Given the description of an element on the screen output the (x, y) to click on. 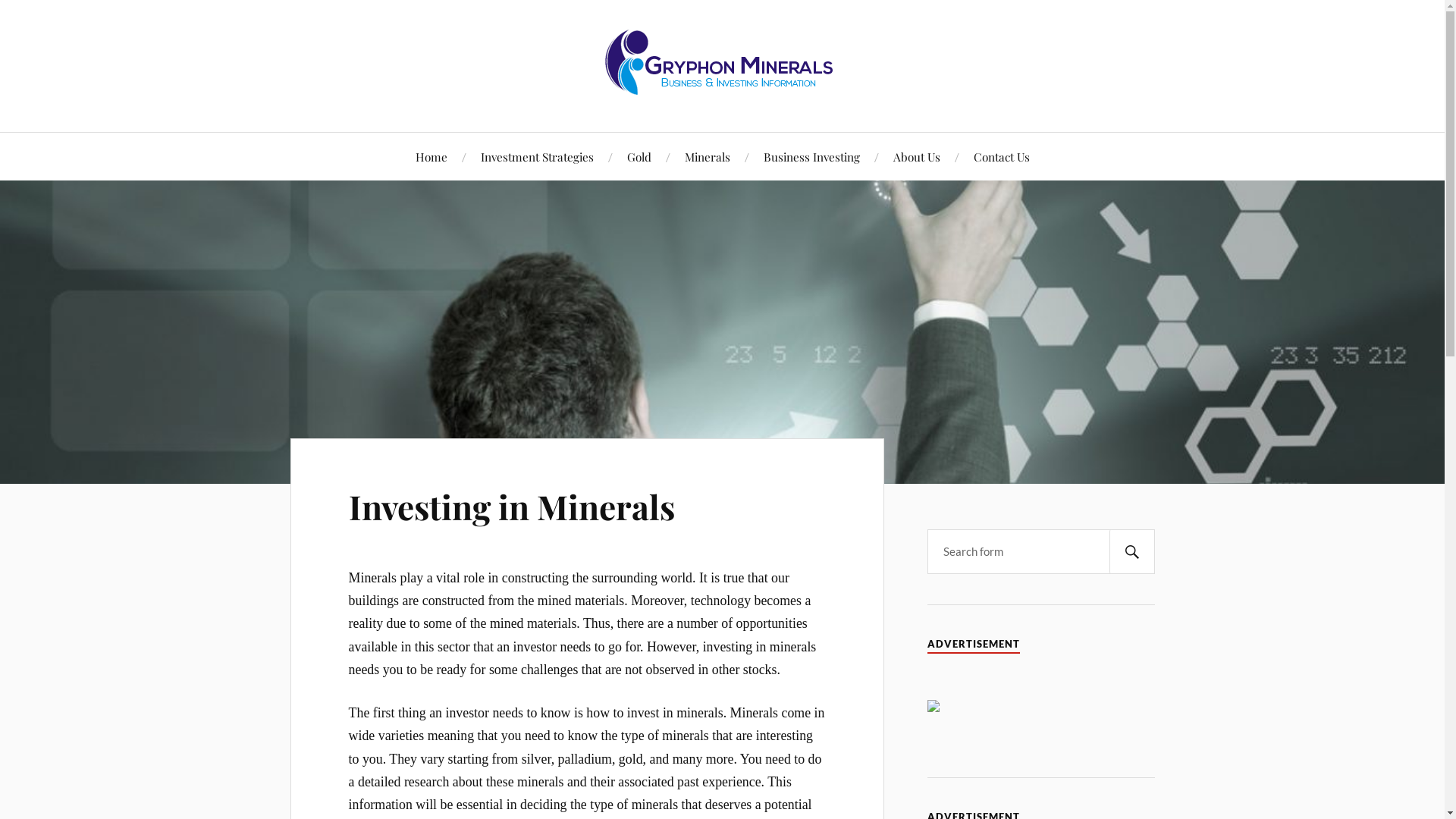
Investing in Minerals Element type: text (511, 505)
About Us Element type: text (916, 156)
Business Investing Element type: text (810, 156)
Investment Strategies Element type: text (536, 156)
Home Element type: text (431, 156)
Gold Element type: text (638, 156)
Contact Us Element type: text (1001, 156)
Minerals Element type: text (706, 156)
